Given the description of an element on the screen output the (x, y) to click on. 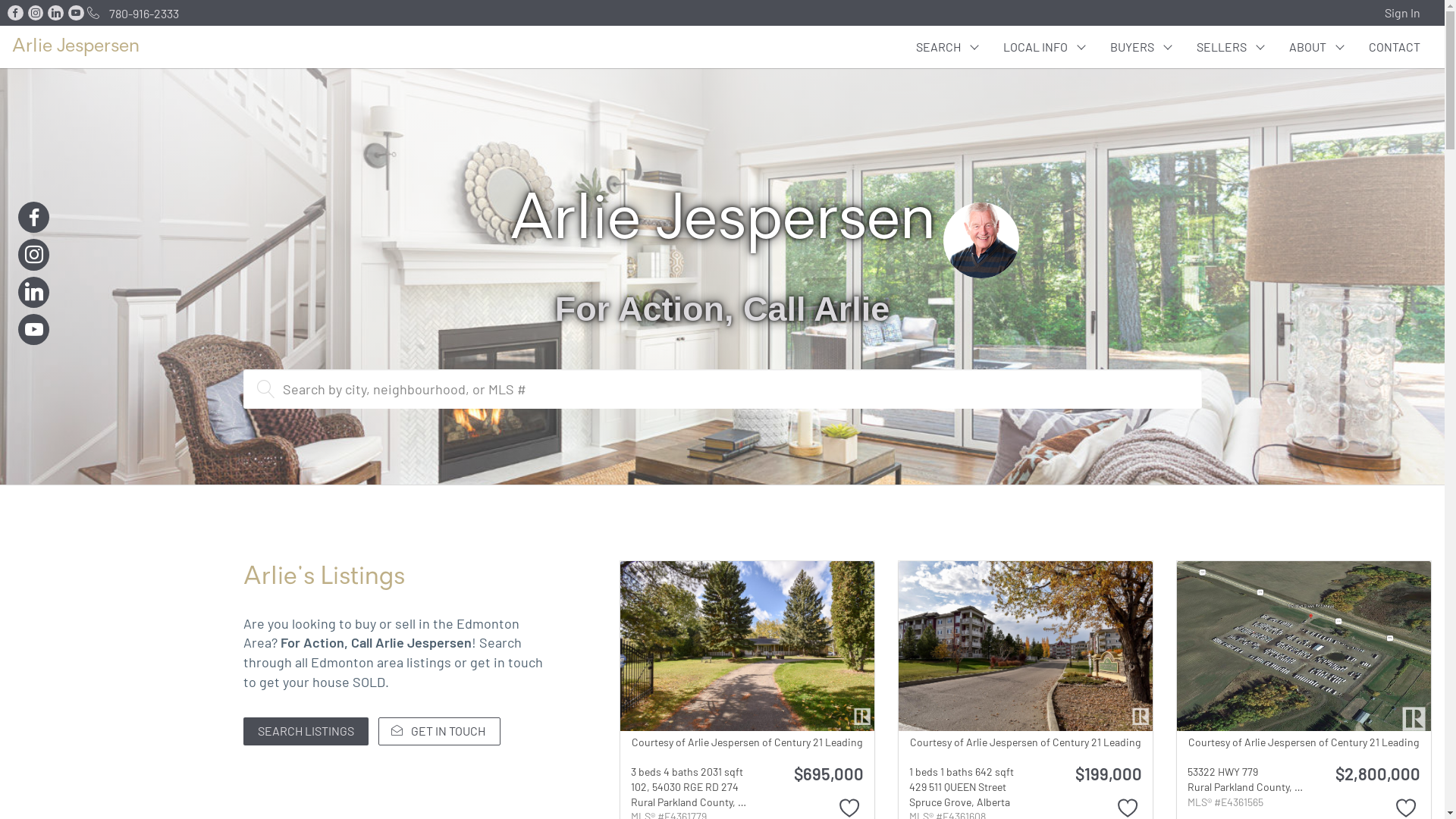
Sign In Element type: text (1406, 12)
GET IN TOUCH Element type: text (439, 731)
Arlie Jespersen Element type: text (75, 46)
780-916-2333 Element type: text (130, 12)
ABOUT Element type: text (1316, 46)
CONTACT Element type: text (1394, 46)
SEARCH LISTINGS Element type: text (304, 731)
